Given the description of an element on the screen output the (x, y) to click on. 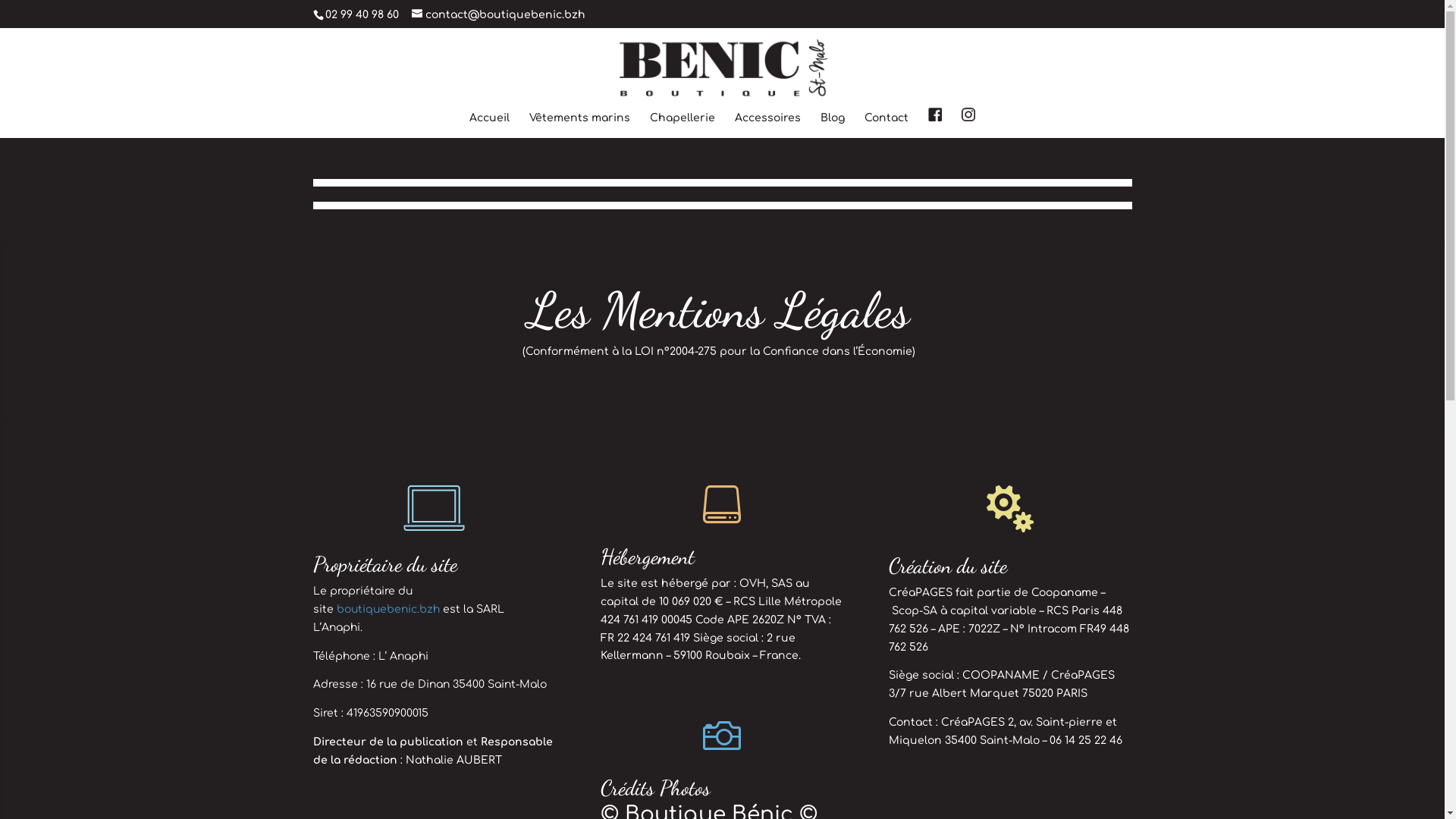
boutiquebenic.bzh Element type: text (387, 609)
Accessoires Element type: text (767, 125)
Accueil Element type: text (489, 125)
Chapellerie Element type: text (682, 125)
Blog Element type: text (832, 125)
contact@boutiquebenic.bzh Element type: text (497, 14)
Contact Element type: text (886, 125)
